Given the description of an element on the screen output the (x, y) to click on. 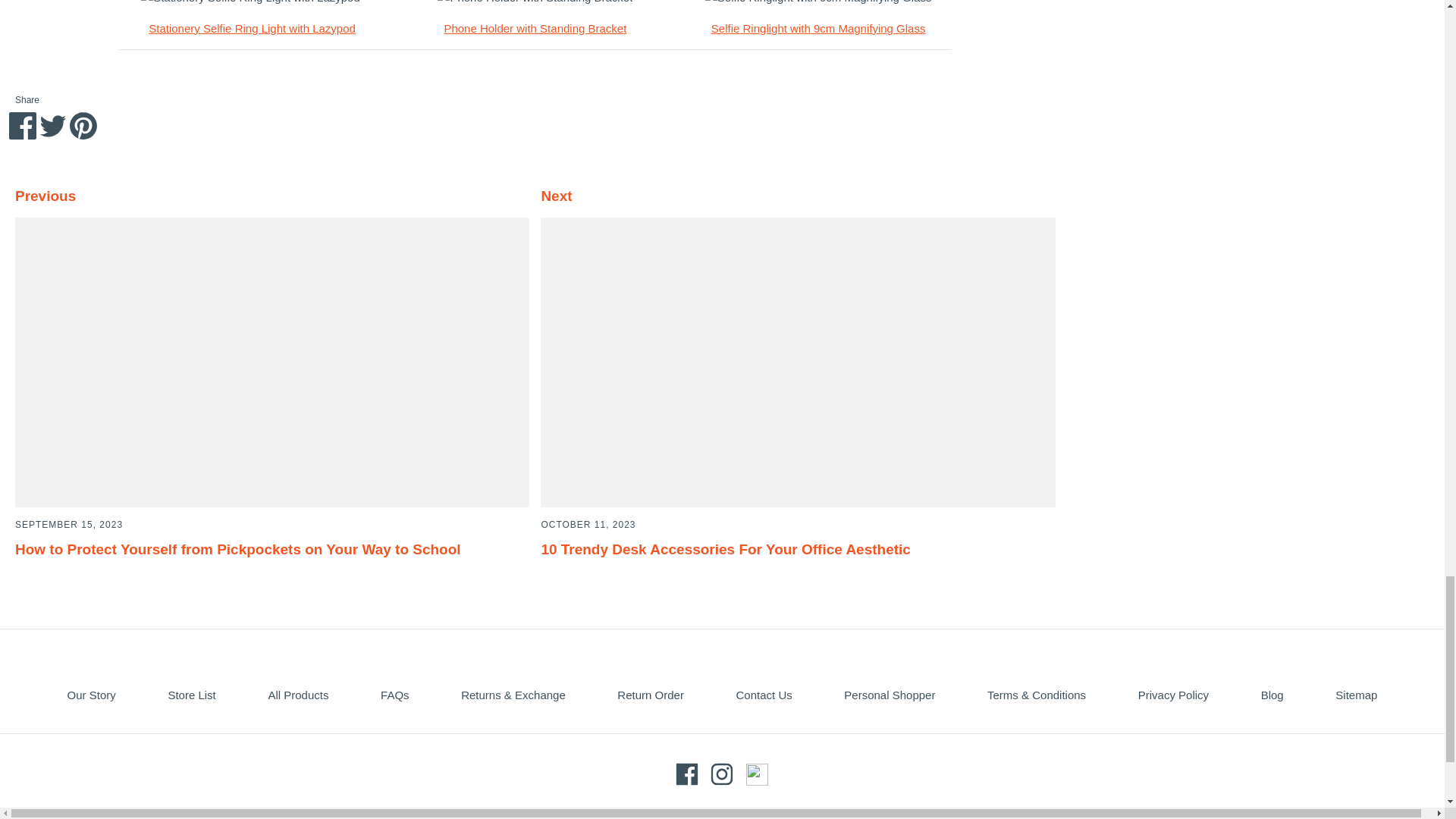
Instagram (721, 773)
Facebook (686, 773)
